Given the description of an element on the screen output the (x, y) to click on. 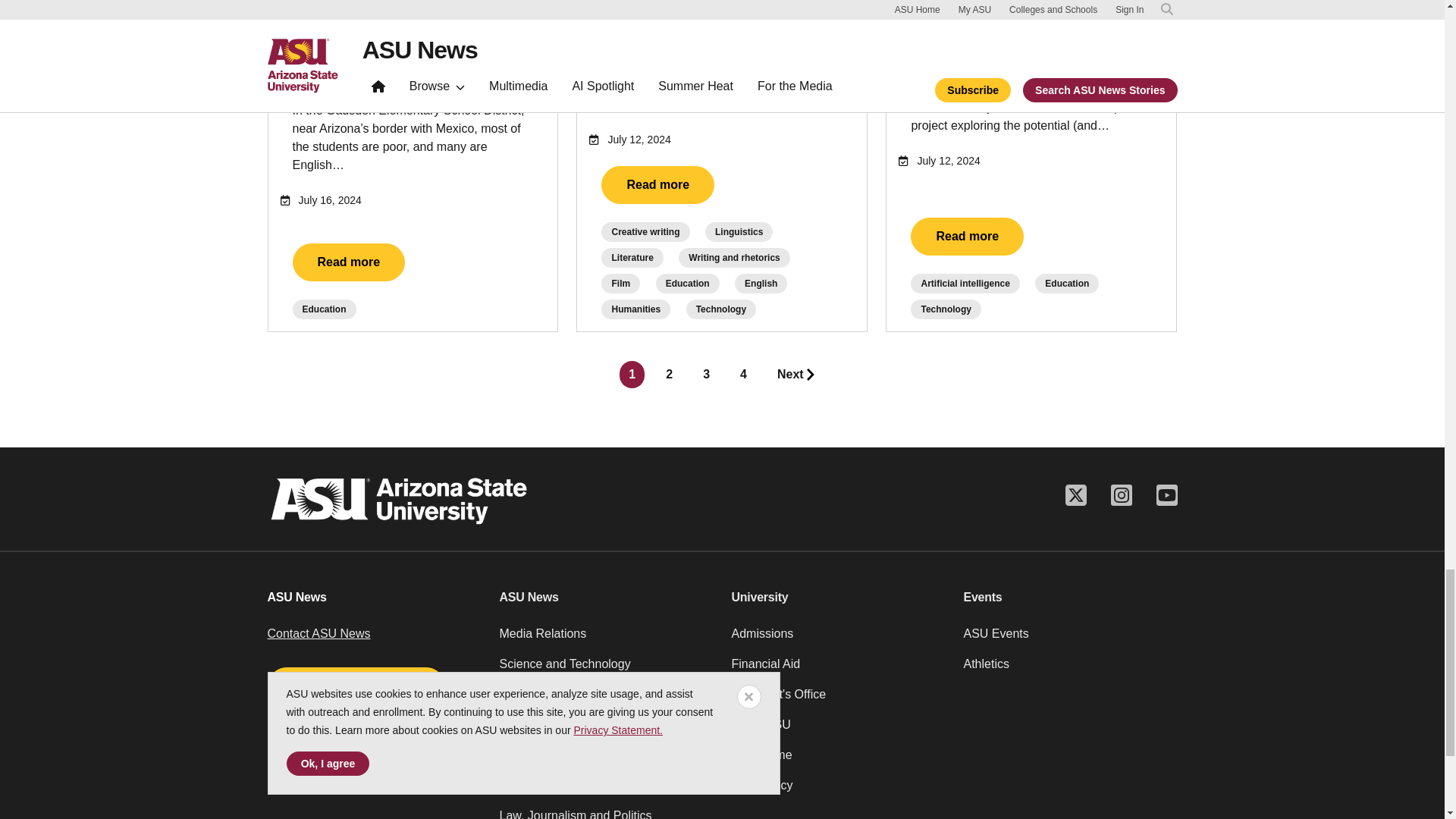
Go to page 2 (668, 374)
Go to last page (796, 374)
YouTube Social Media Icon (1166, 494)
Instagram Social Media Icon (1120, 494)
Go to page 4 (742, 374)
Go to page 3 (706, 374)
Current page (632, 374)
